Given the description of an element on the screen output the (x, y) to click on. 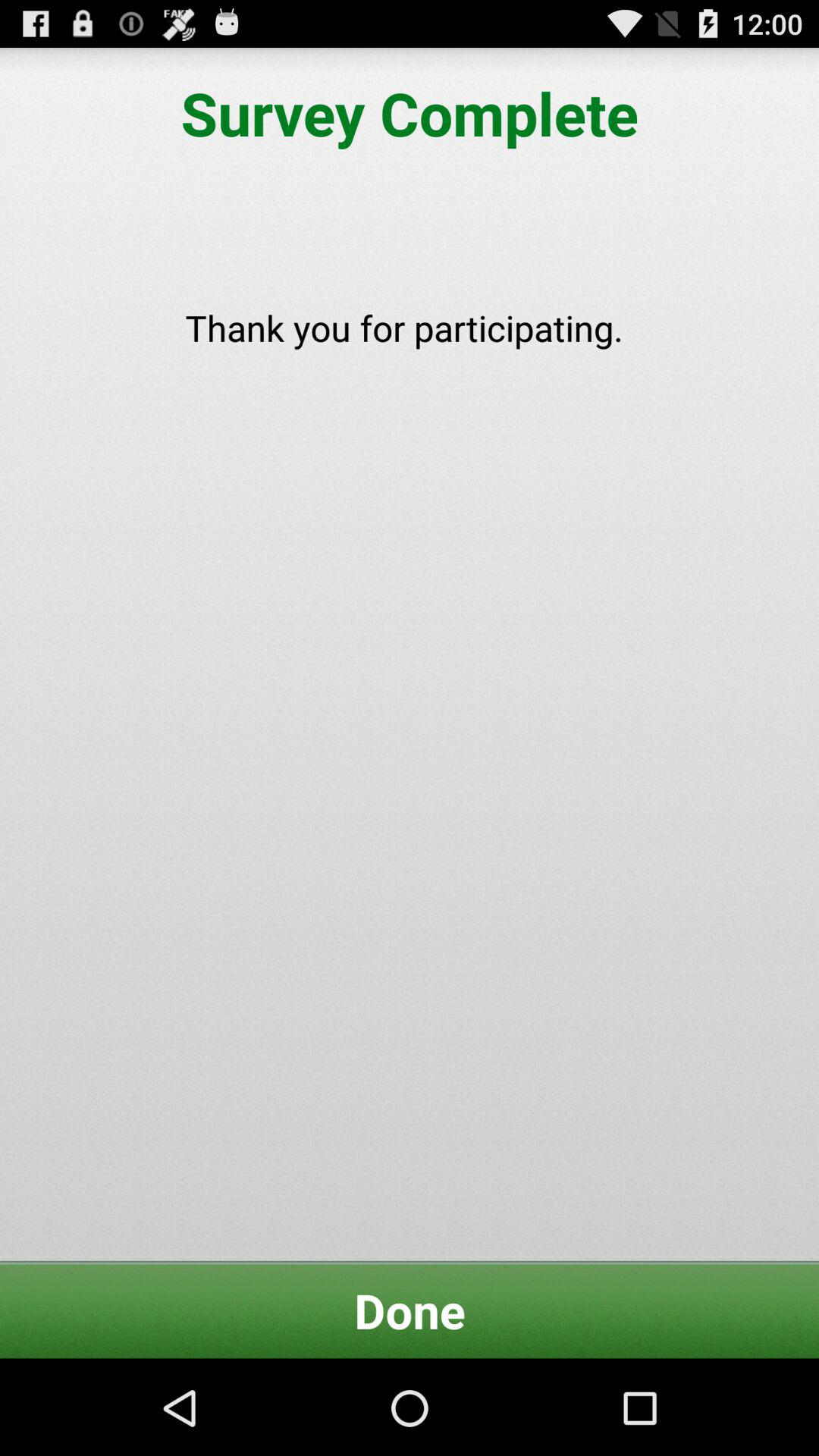
choose done item (409, 1310)
